Given the description of an element on the screen output the (x, y) to click on. 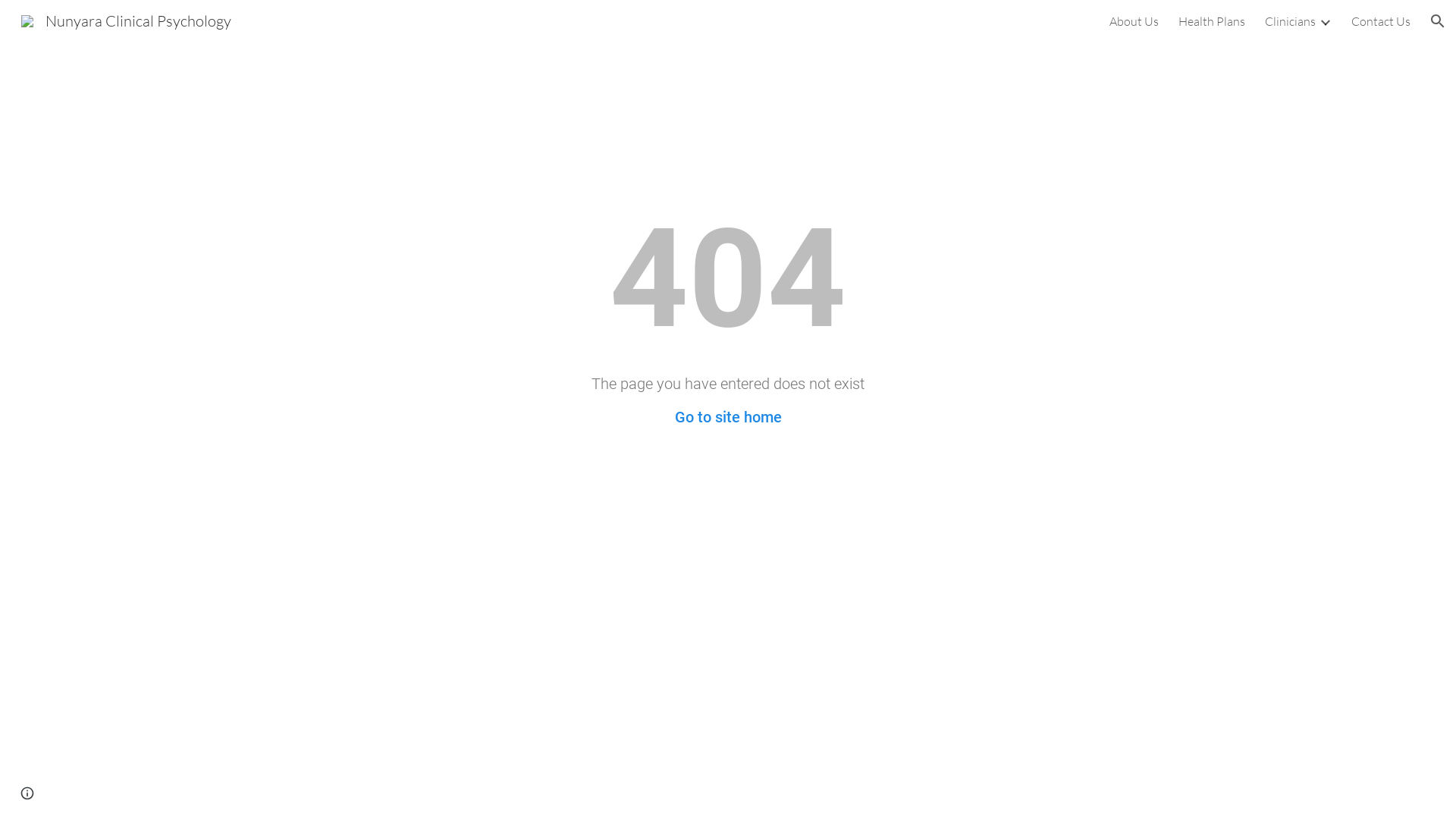
Contact Us Element type: text (1380, 20)
Nunyara Clinical Psychology Element type: text (126, 18)
Clinicians Element type: text (1289, 20)
About Us Element type: text (1133, 20)
Go to site home Element type: text (727, 416)
Health Plans Element type: text (1211, 20)
Expand/Collapse Element type: hover (1324, 20)
